Given the description of an element on the screen output the (x, y) to click on. 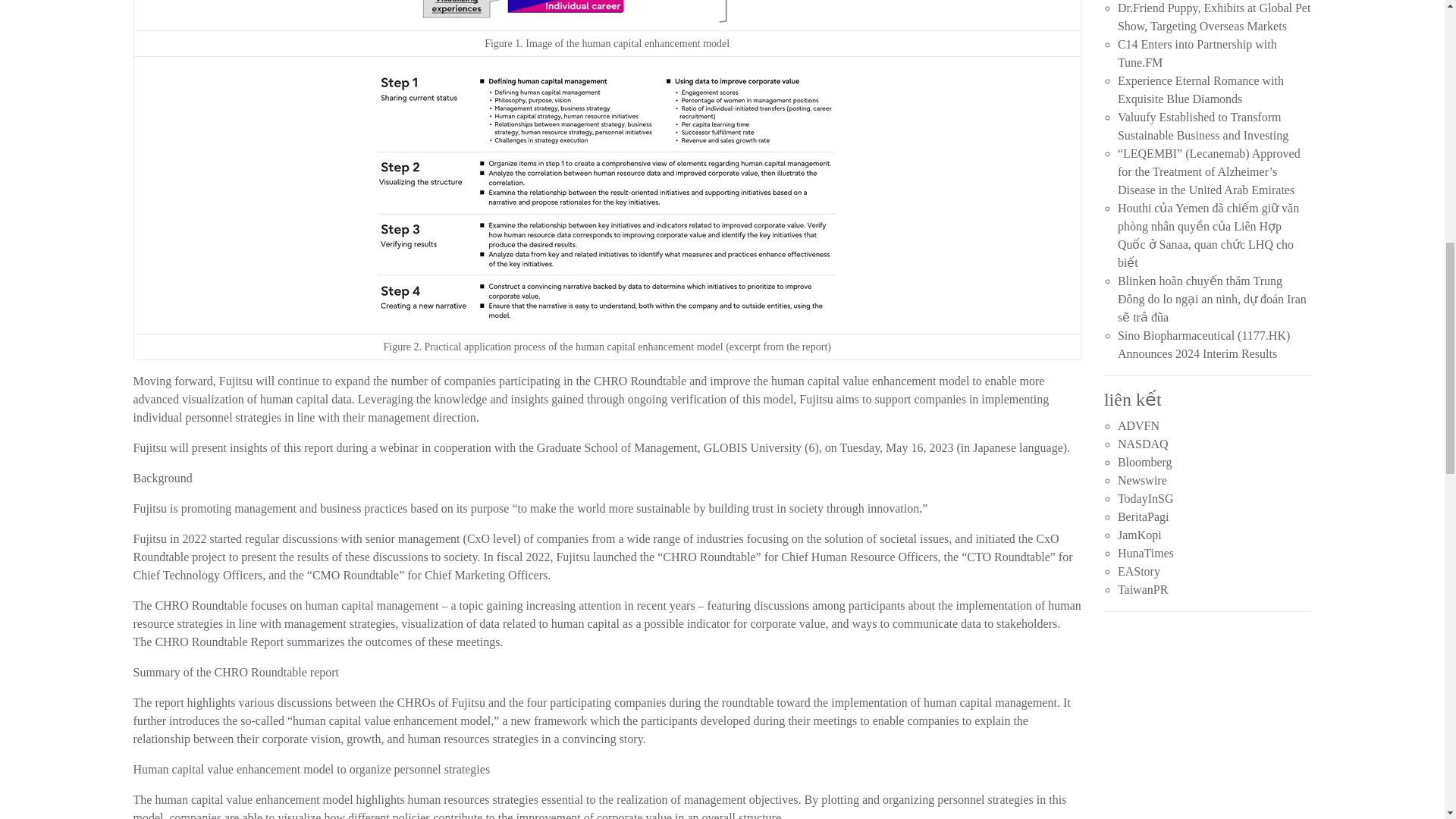
C14 Enters into Partnership with Tune.FM (1197, 52)
Experience Eternal Romance with Exquisite Blue Diamonds (1201, 89)
